Given the description of an element on the screen output the (x, y) to click on. 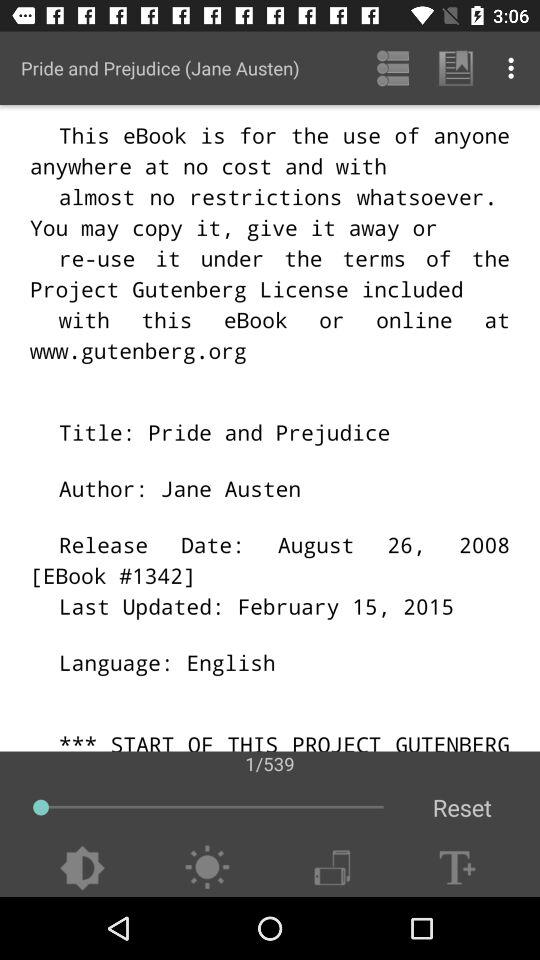
turn on item above 1/539 app (513, 67)
